Given the description of an element on the screen output the (x, y) to click on. 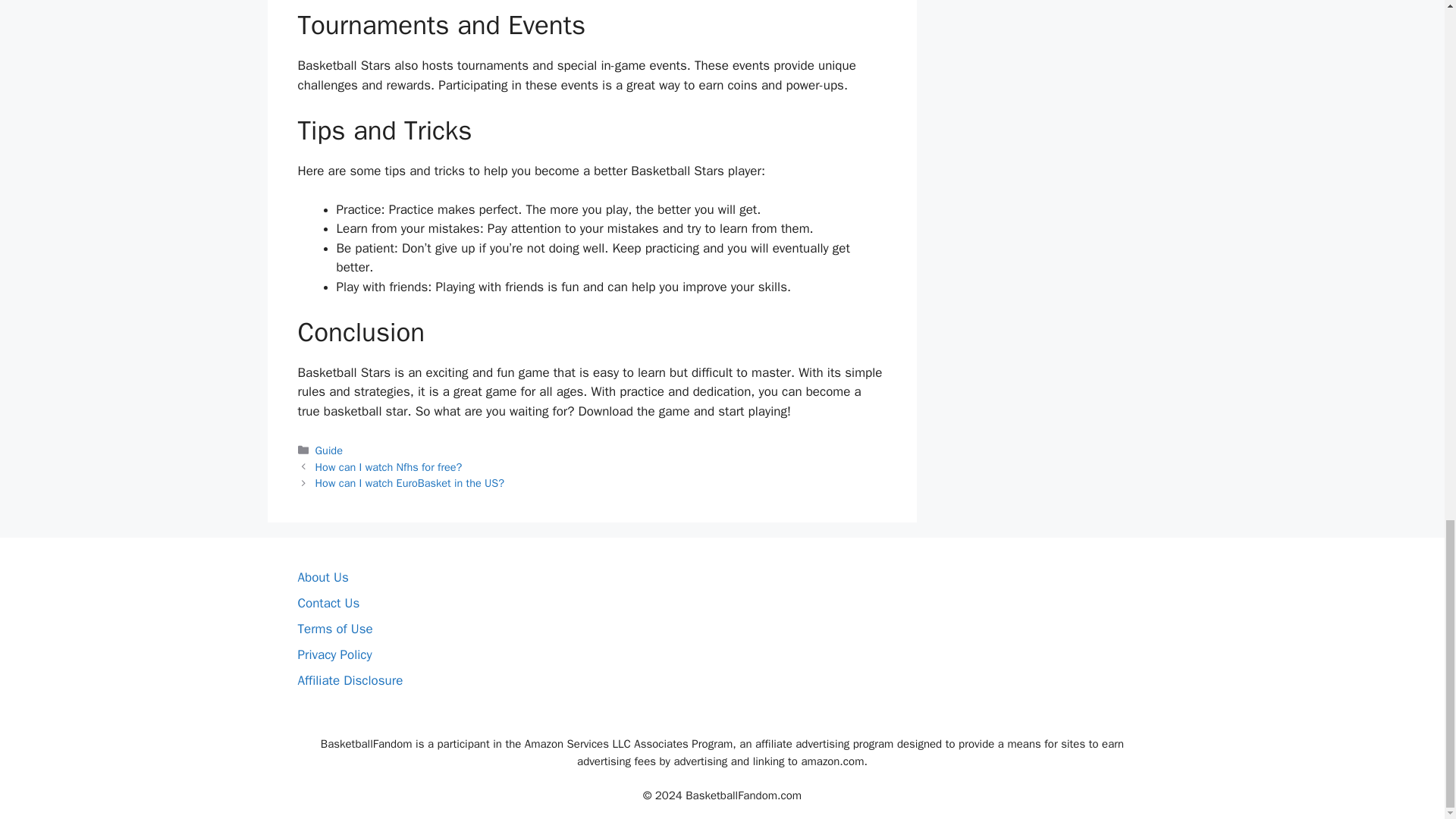
Guide (328, 450)
Affiliate Disclosure (350, 680)
Terms of Use (334, 628)
Contact Us (328, 602)
How can I watch EuroBasket in the US? (409, 482)
About Us (322, 577)
Scroll back to top (1406, 87)
How can I watch Nfhs for free? (389, 467)
Privacy Policy (334, 654)
